Given the description of an element on the screen output the (x, y) to click on. 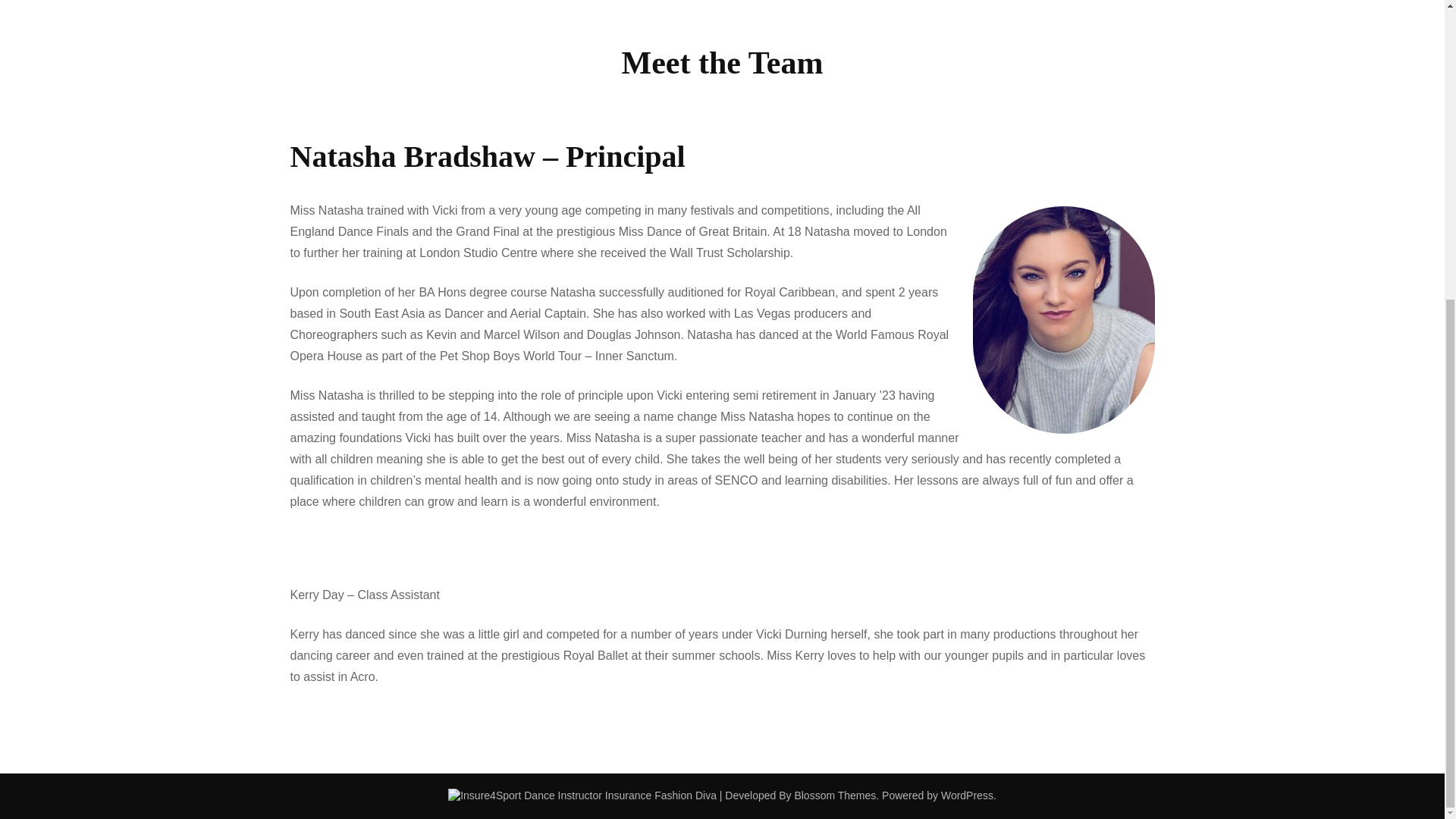
WordPress (966, 795)
Blossom Themes (834, 795)
